Given the description of an element on the screen output the (x, y) to click on. 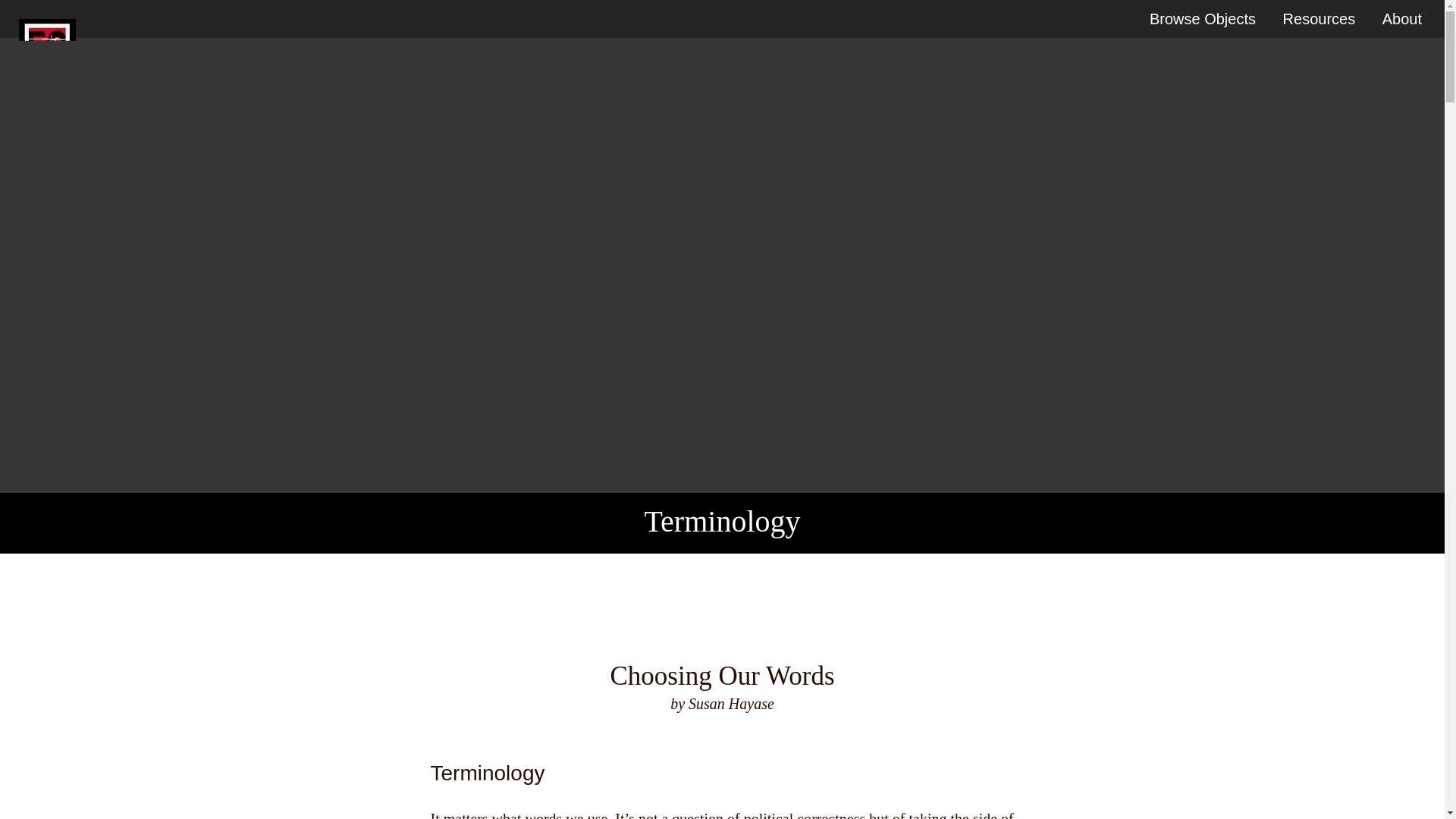
Browse Objects (1202, 18)
Resources (1318, 18)
About (1401, 18)
